Given the description of an element on the screen output the (x, y) to click on. 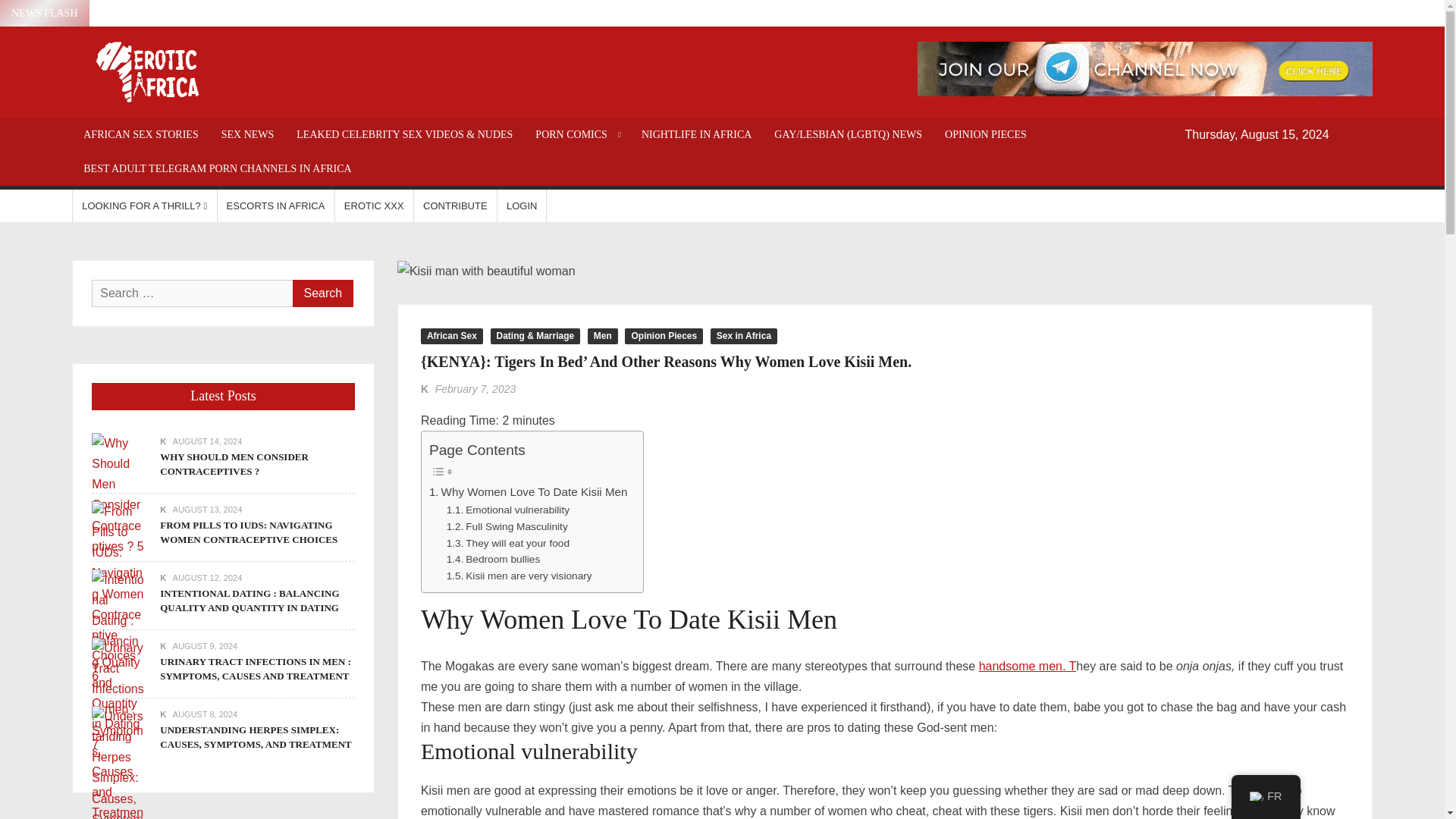
Full Swing Masculinity (506, 526)
Search (322, 293)
They will eat your food (507, 543)
NIGHTLIFE IN AFRICA (696, 134)
Search (322, 293)
BEST ADULT TELEGRAM PORN CHANNELS IN AFRICA (216, 168)
AFRICAN SEX STORIES (140, 134)
SEX NEWS (247, 134)
OPINION PIECES (985, 134)
Why Women Love To Date Kisii Men (528, 492)
